Given the description of an element on the screen output the (x, y) to click on. 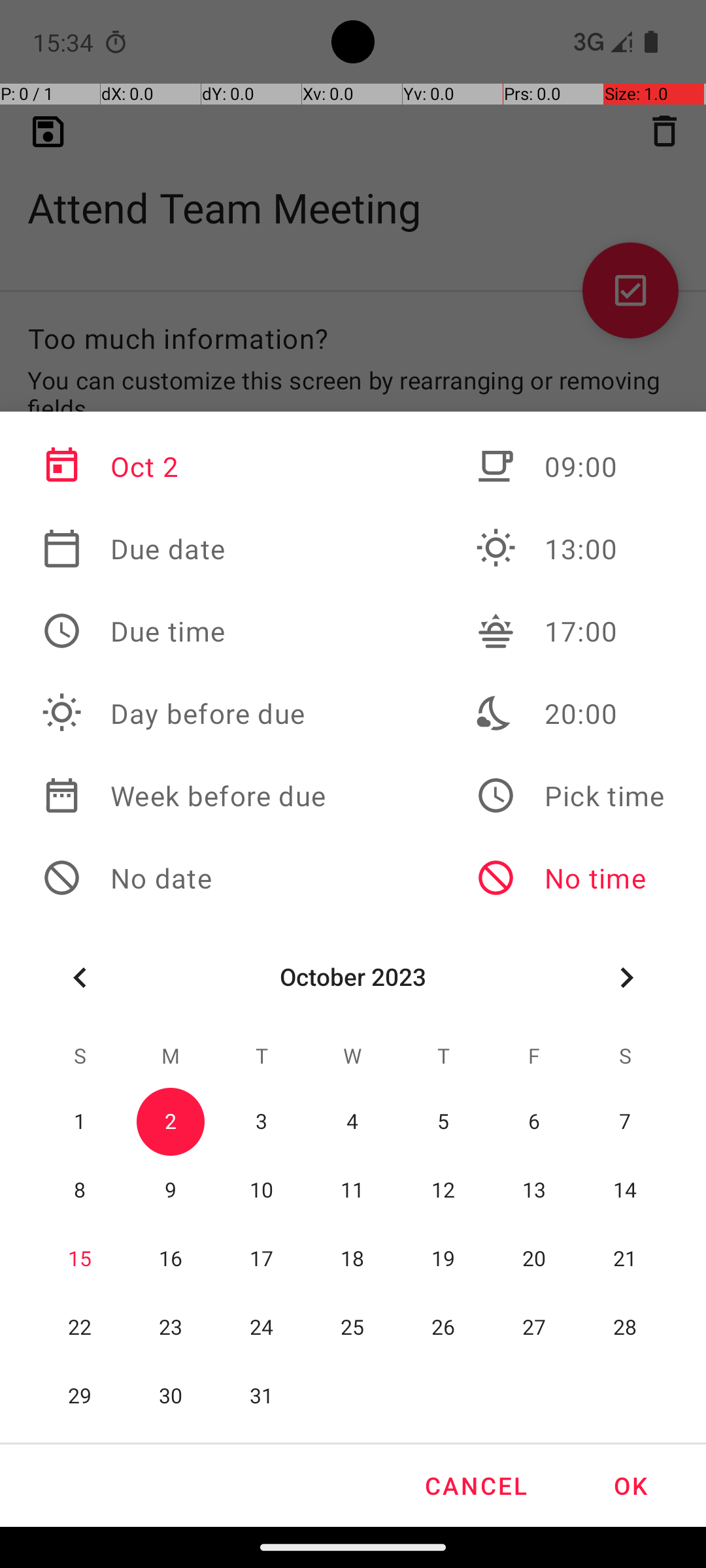
Oct 2 Element type: android.widget.CompoundButton (183, 466)
